Given the description of an element on the screen output the (x, y) to click on. 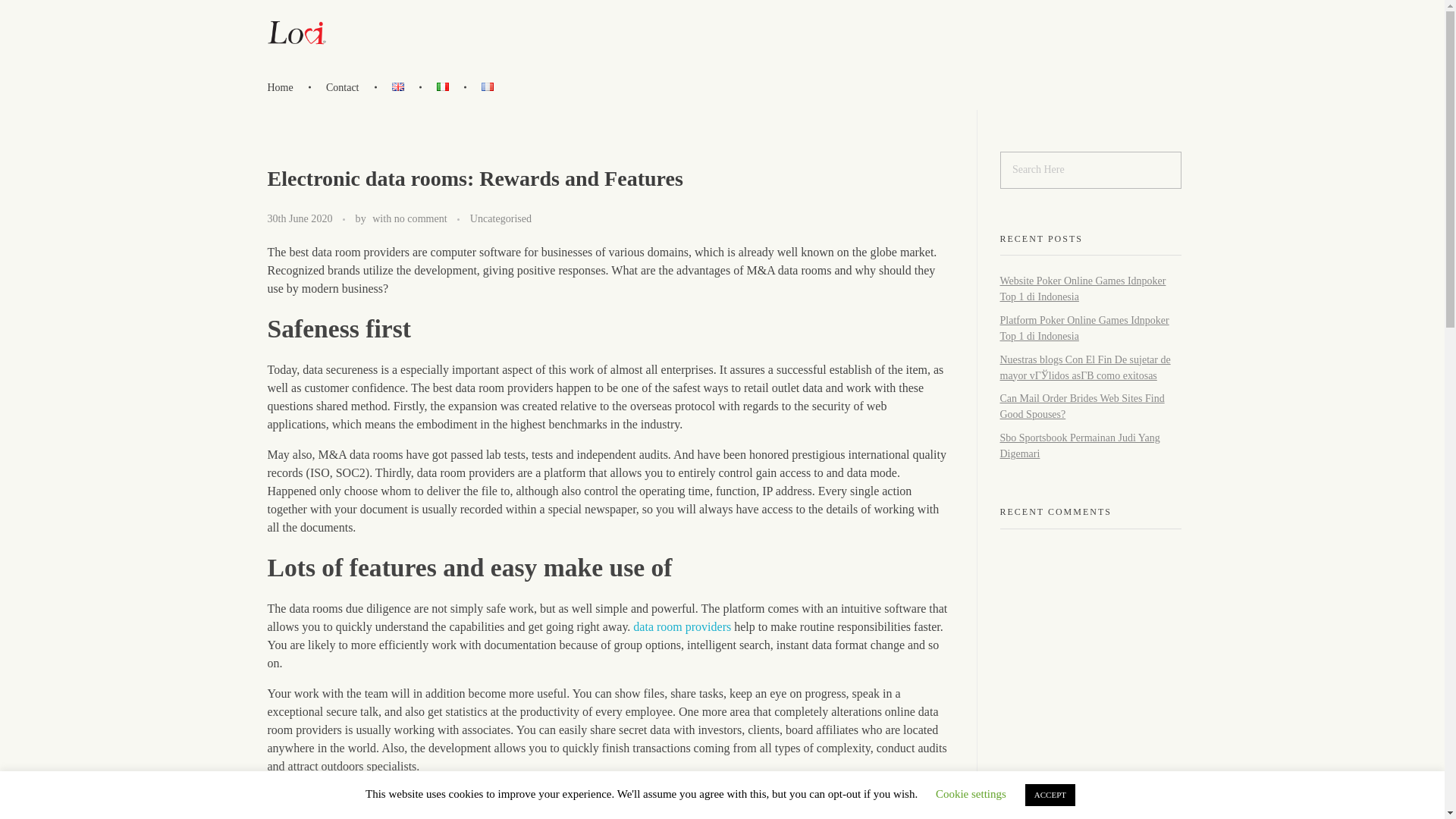
Website Poker Online Games Idnpoker Top 1 di Indonesia (1082, 288)
Contact (345, 86)
ACCEPT (1050, 794)
Can Mail Order Brides Web Sites Find Good Spouses? (1080, 406)
Platform Poker Online Games Idnpoker Top 1 di Indonesia (1083, 328)
English (397, 85)
Uncategorised (500, 218)
Sbo Sportsbook Permainan Judi Yang Digemari (1078, 445)
Search (42, 13)
data room providers (681, 626)
Cookie settings (971, 793)
View all posts in Uncategorised (500, 218)
Italiano (442, 85)
Home (288, 86)
